Given the description of an element on the screen output the (x, y) to click on. 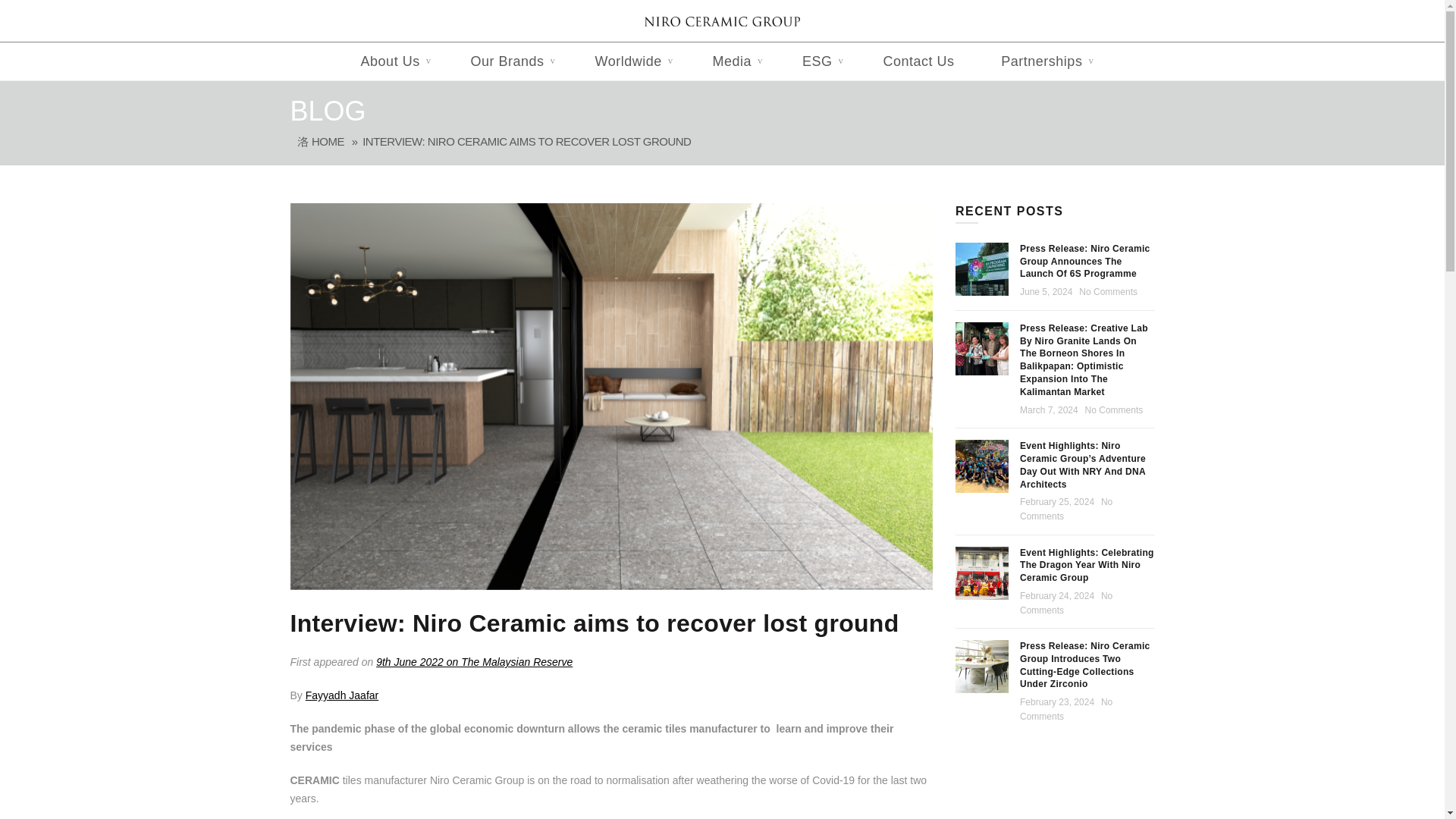
NIRO CNY 2024 (982, 573)
CREATIVE LAB BORNEO LAUNCHING-18 (982, 348)
BLOG BANNER-01 (982, 268)
Zirconio Launch Niro Ceramic Group (982, 665)
NIRO CERAMIC OUTDOOR NRY (982, 466)
